Given the description of an element on the screen output the (x, y) to click on. 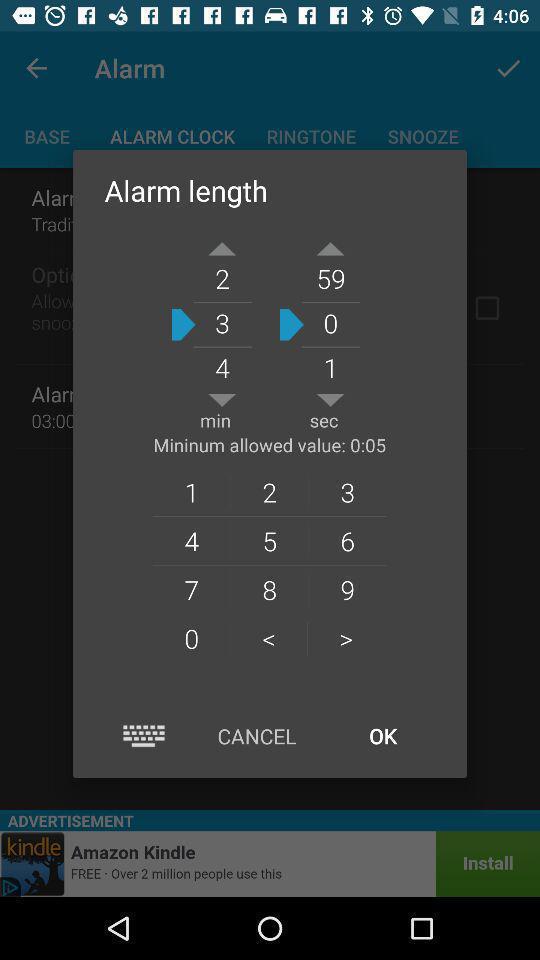
swipe until the 6 icon (347, 540)
